Given the description of an element on the screen output the (x, y) to click on. 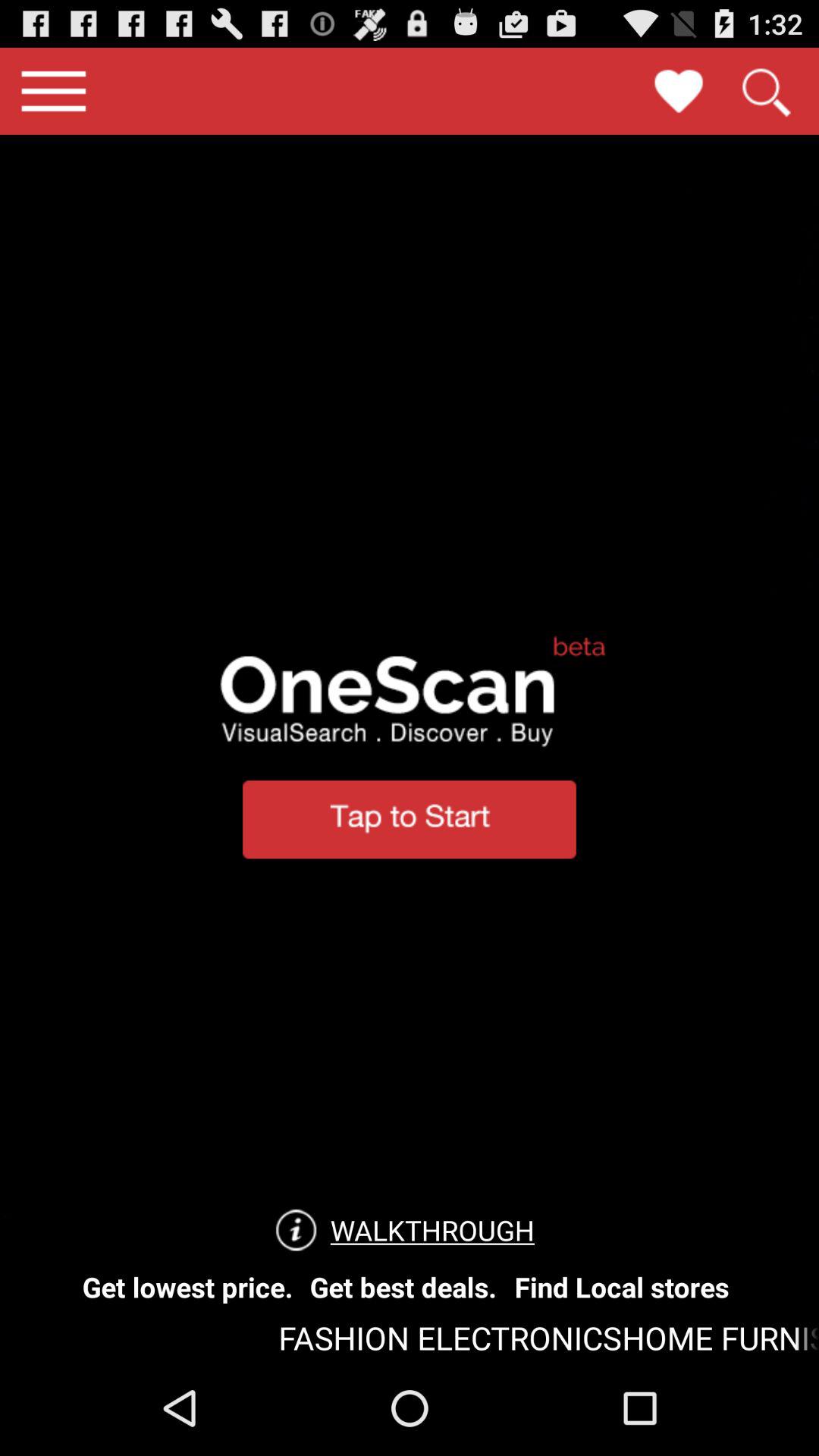
image button (678, 91)
